Given the description of an element on the screen output the (x, y) to click on. 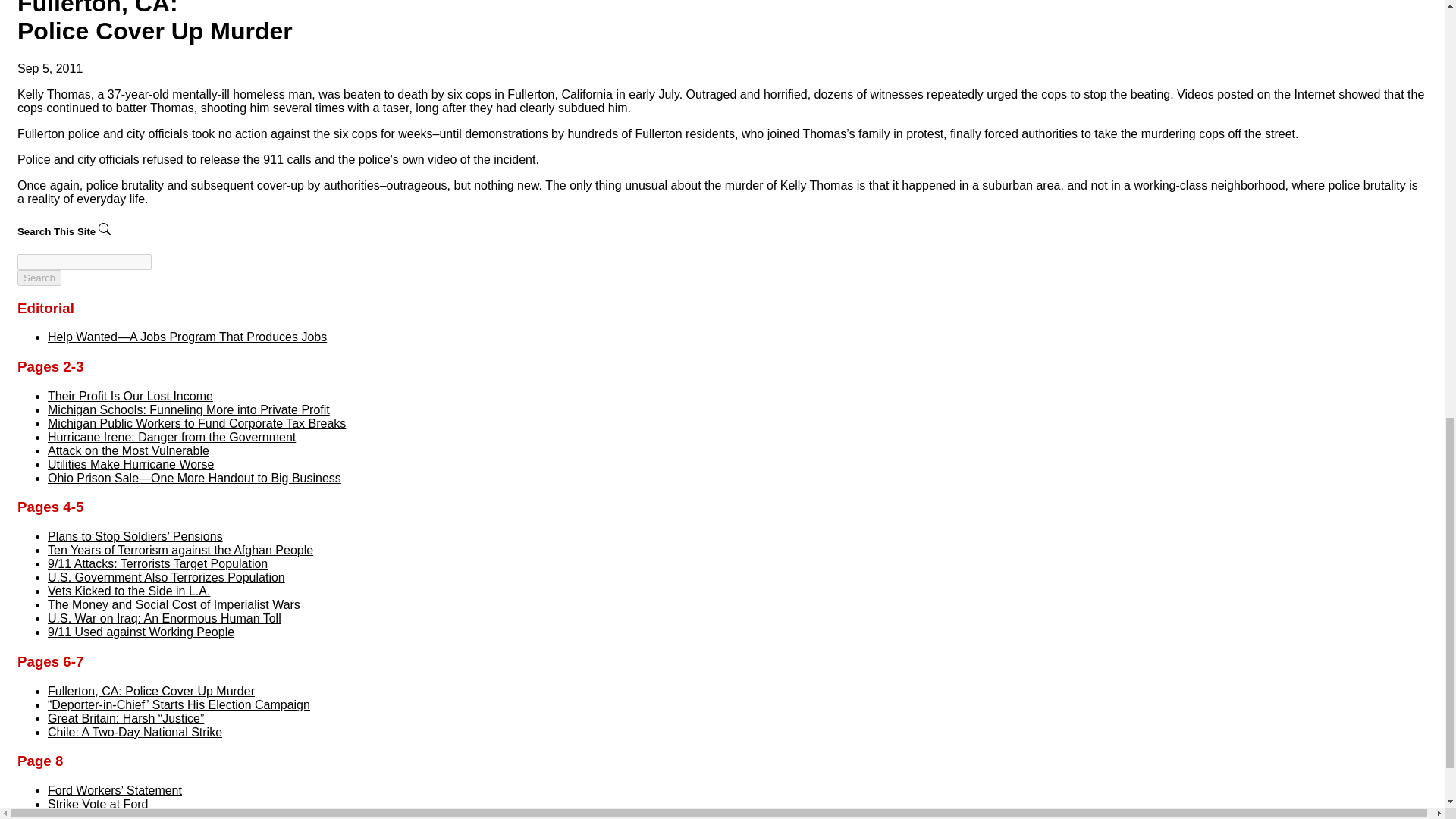
Attack on the Most Vulnerable (128, 450)
Michigan Schools: Funneling More into Private Profit (189, 409)
Hurricane Irene: Danger from the Government (171, 436)
Search (39, 277)
Their Profit Is Our Lost Income (130, 395)
Michigan Public Workers to Fund Corporate Tax Breaks (197, 422)
Utilities Make Hurricane Worse (131, 463)
